Given the description of an element on the screen output the (x, y) to click on. 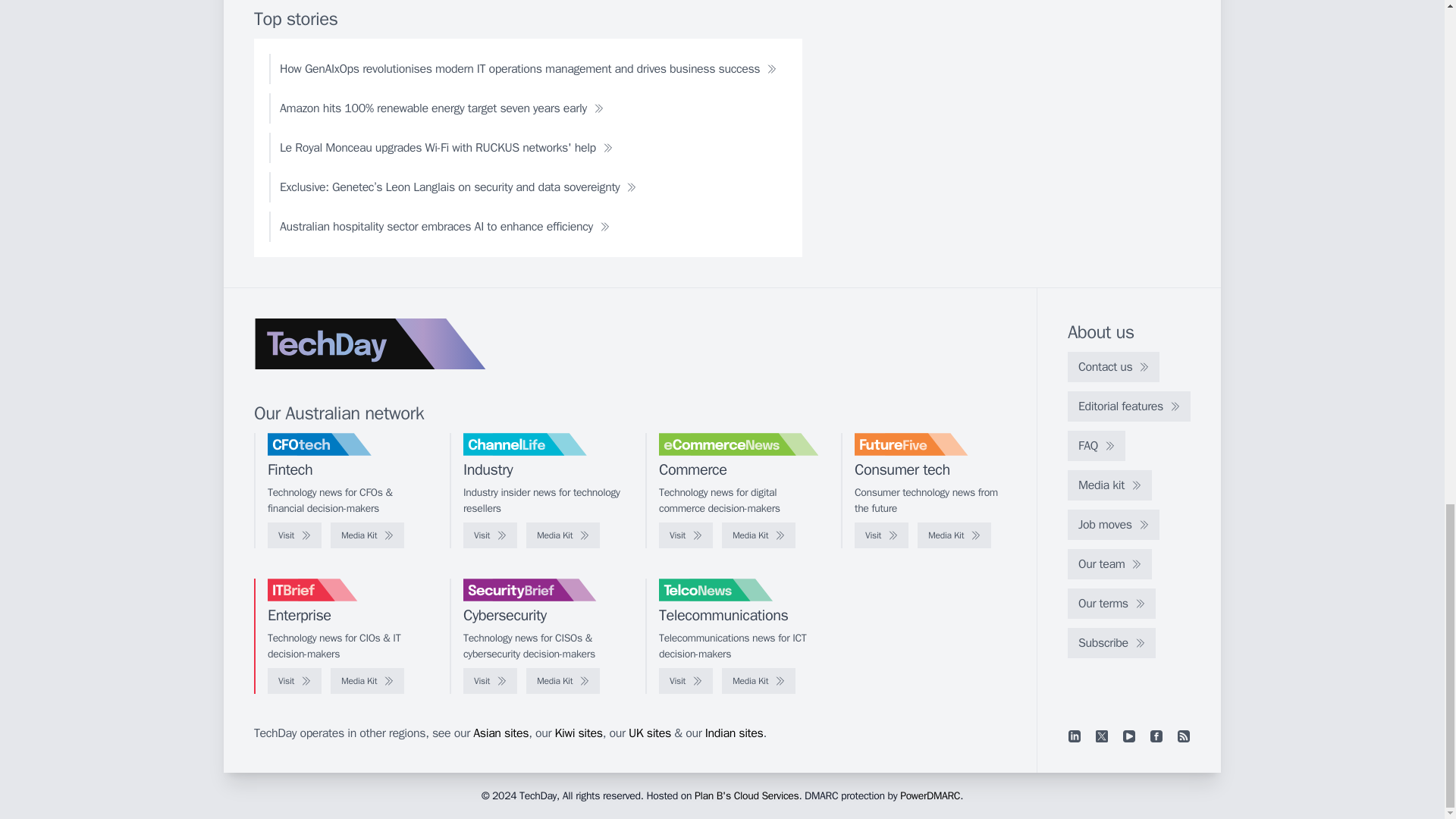
Visit (881, 534)
Media Kit (758, 534)
Visit (686, 534)
Media Kit (367, 534)
Le Royal Monceau upgrades Wi-Fi with RUCKUS networks' help (446, 147)
Visit (489, 534)
Media Kit (562, 534)
Visit (294, 534)
